Given the description of an element on the screen output the (x, y) to click on. 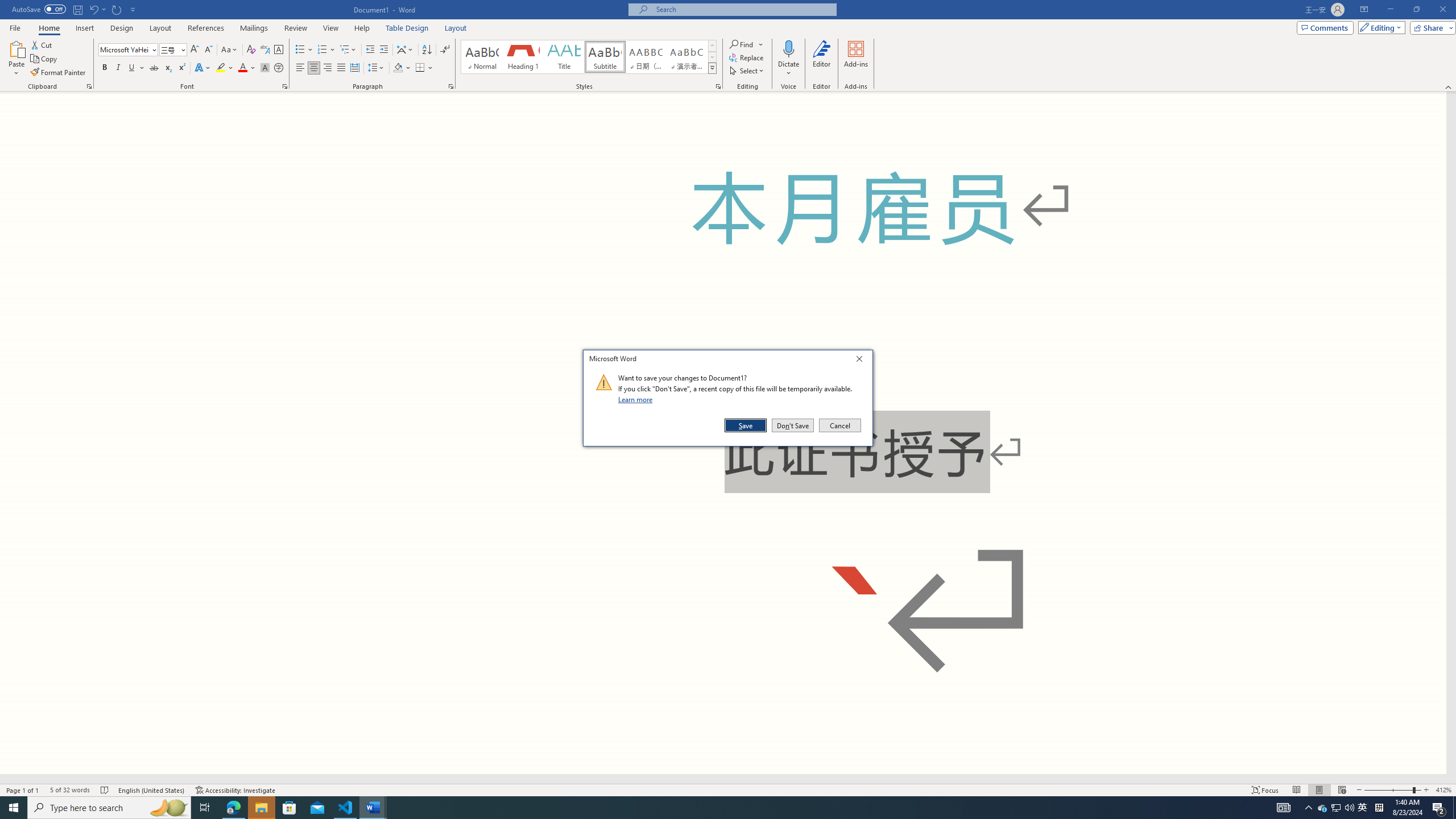
Align Right (327, 67)
Save (746, 425)
AutomationID: 4105 (1283, 807)
Center (313, 67)
Strikethrough (154, 67)
Design (122, 28)
Type here to search (108, 807)
Row Down (711, 56)
Office Clipboard... (88, 85)
Dictate (788, 58)
Search highlights icon opens search home window (167, 807)
Font... (285, 85)
Learn more (636, 399)
Repeat Doc Close (117, 9)
Find (742, 44)
